Given the description of an element on the screen output the (x, y) to click on. 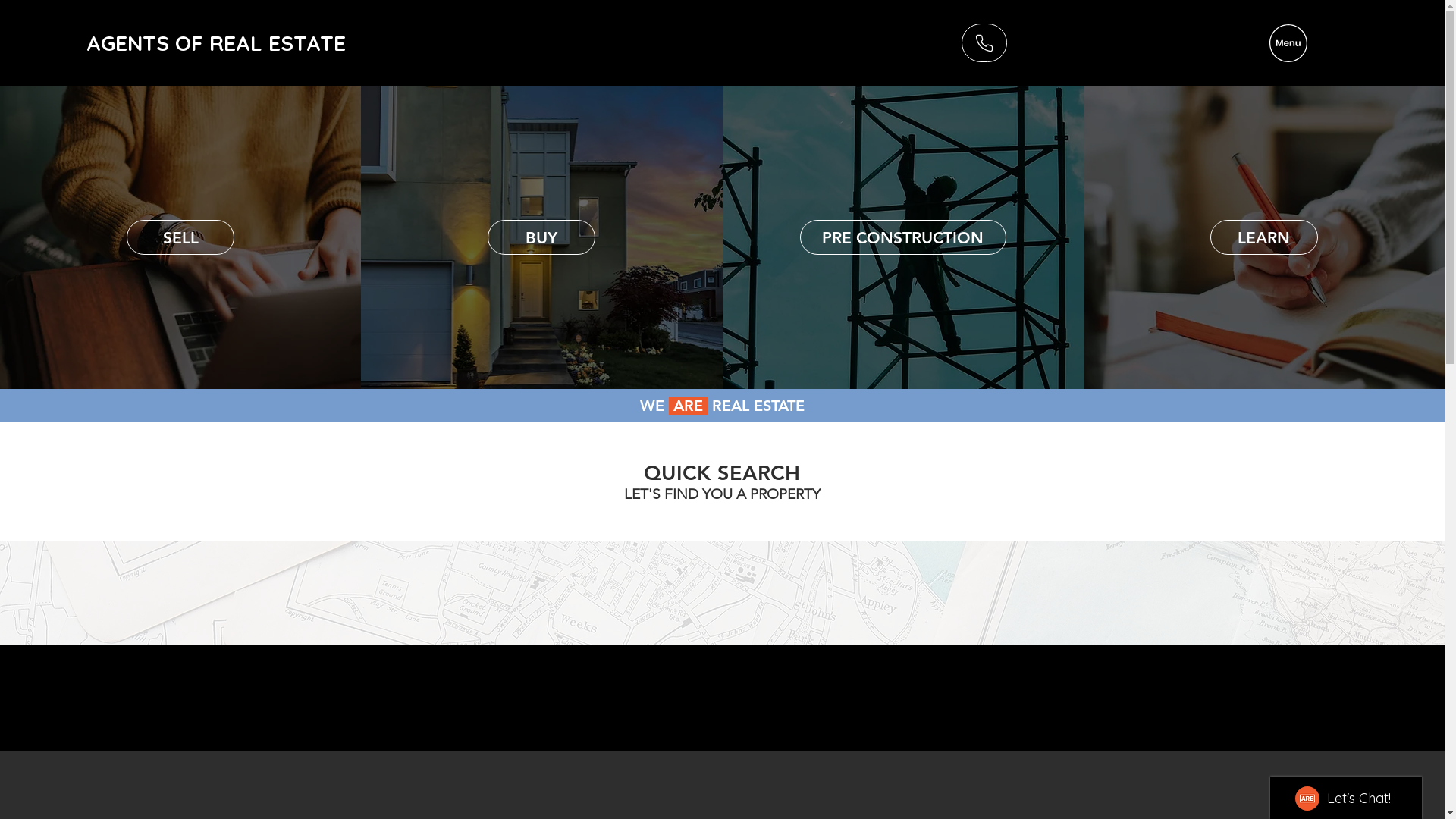
BUY Element type: text (541, 236)
SELL Element type: text (180, 236)
PRE CONSTRUCTION Element type: text (903, 236)
LEARN Element type: text (1263, 236)
AGENTS OF REAL ESTATE Element type: text (215, 42)
